Given the description of an element on the screen output the (x, y) to click on. 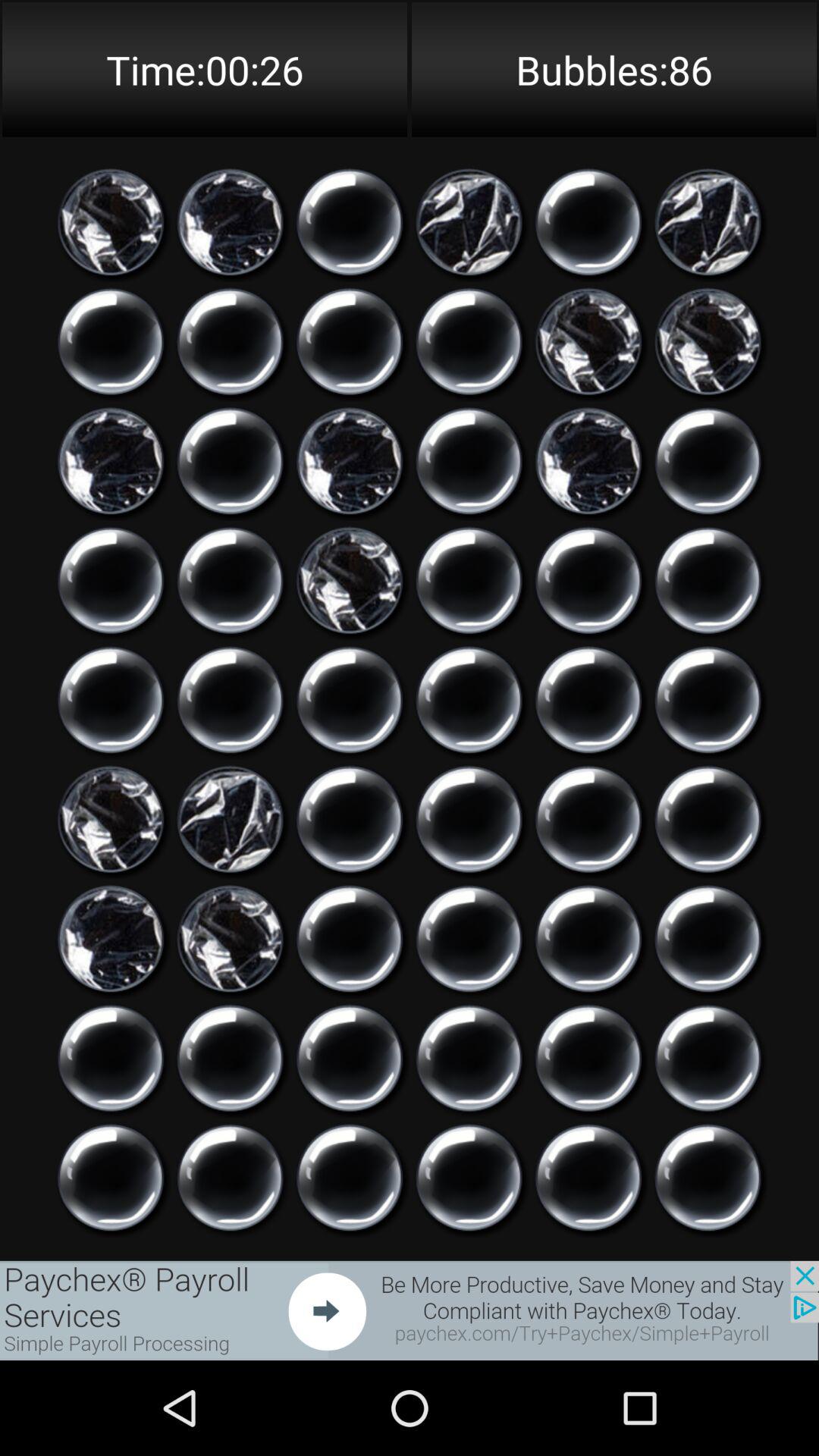
pop bubble (230, 1177)
